Given the description of an element on the screen output the (x, y) to click on. 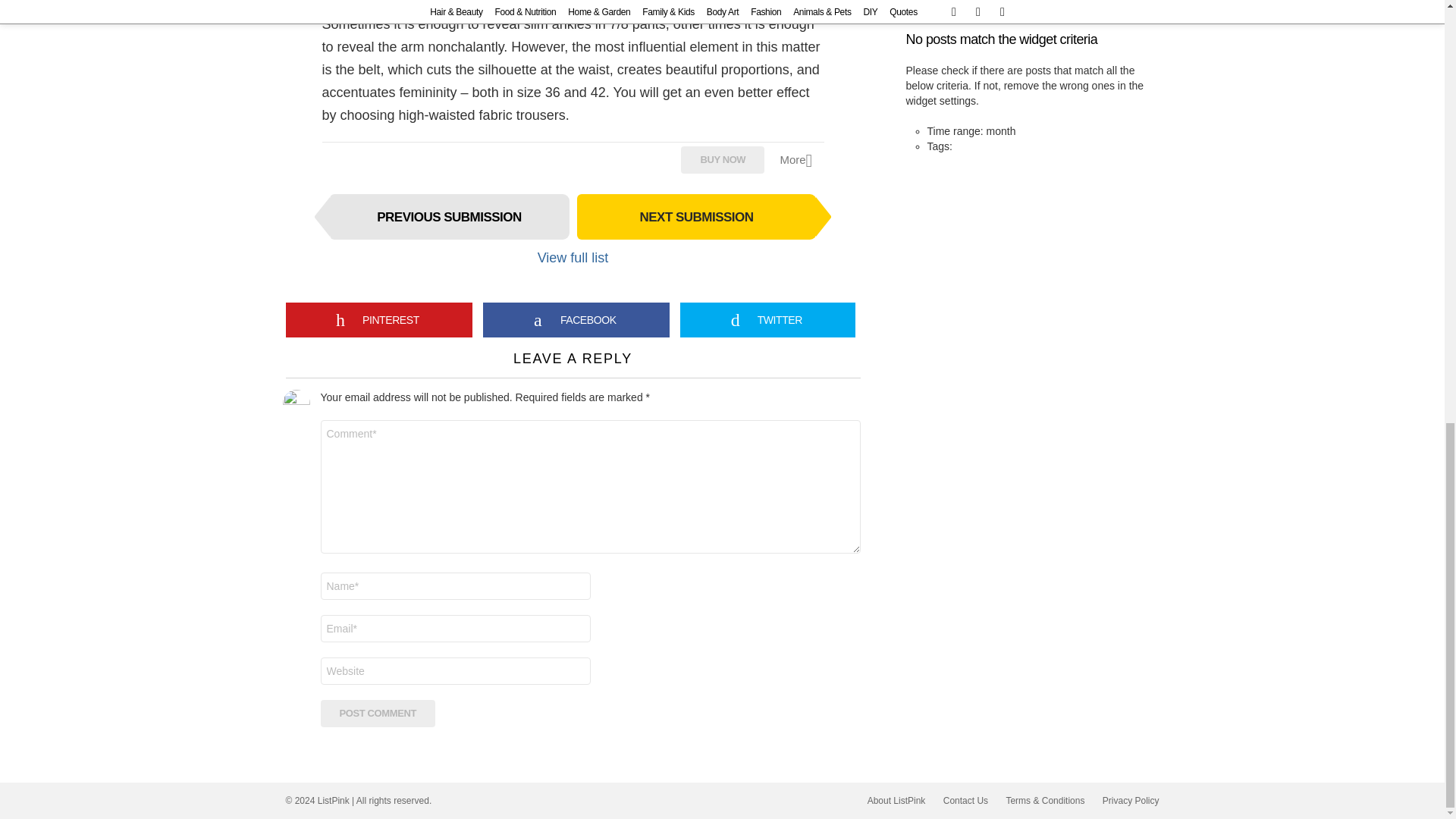
BUY NOW (722, 159)
Share on Twitter (767, 319)
Post Comment (377, 713)
More (801, 159)
Share on Facebook (576, 319)
PREVIOUS SUBMISSION (449, 216)
TWITTER (767, 319)
Share on Pinterest (378, 319)
FACEBOOK (576, 319)
NEXT SUBMISSION (695, 216)
View full list (572, 257)
PINTEREST (378, 319)
